Given the description of an element on the screen output the (x, y) to click on. 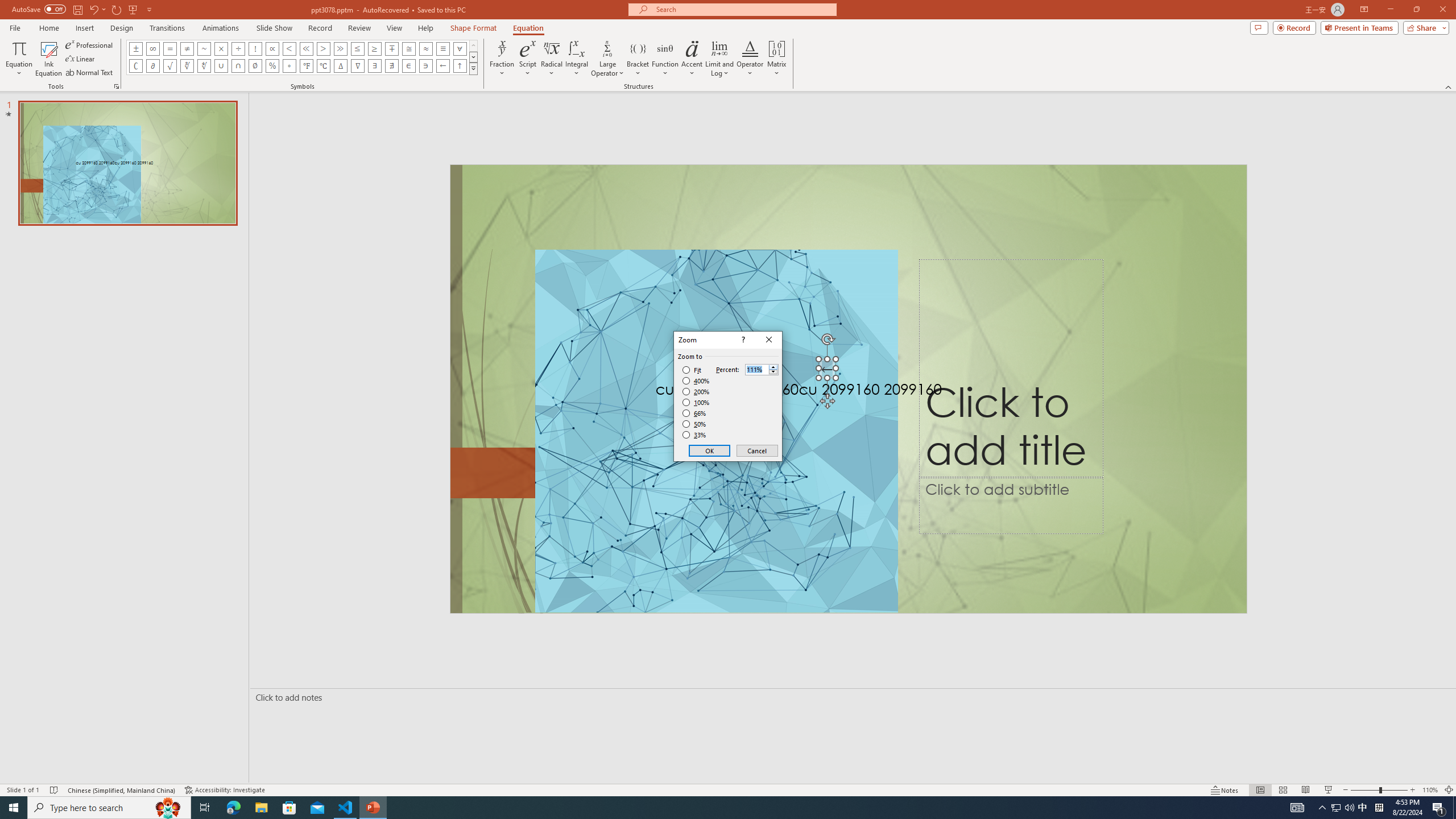
200% (696, 391)
Equation Symbol Contains as Member (425, 65)
Equation Symbol Proportional To (272, 48)
Large Operator (607, 58)
400% (696, 380)
